Given the description of an element on the screen output the (x, y) to click on. 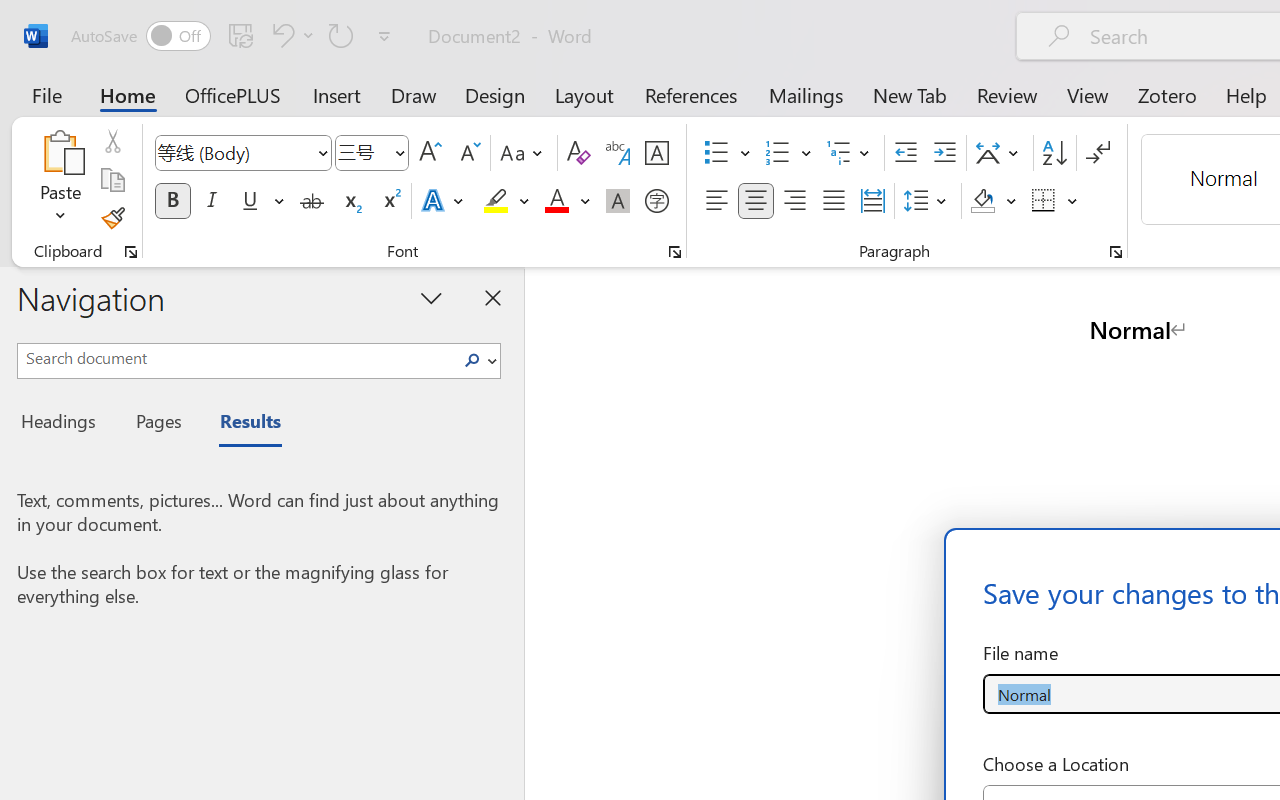
Quick Access Toolbar (233, 36)
Justify (834, 201)
Open (399, 152)
Font... (675, 252)
Text Highlight Color (506, 201)
Text Highlight Color Yellow (495, 201)
Shading RGB(0, 0, 0) (982, 201)
Show/Hide Editing Marks (1098, 153)
Headings (64, 424)
Font Color Red (556, 201)
